Given the description of an element on the screen output the (x, y) to click on. 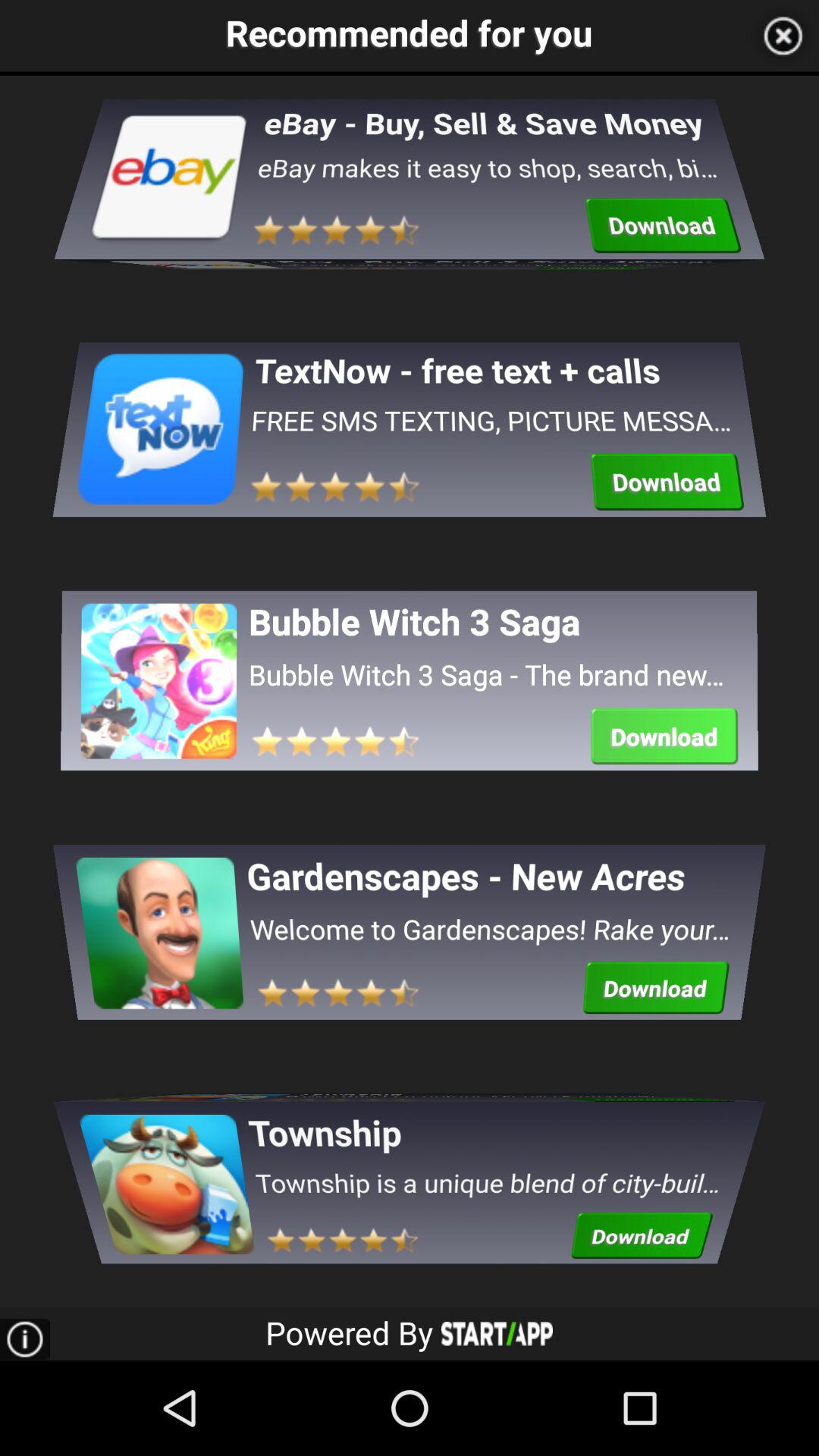
press the app to the right of recommended for you app (783, 35)
